Given the description of an element on the screen output the (x, y) to click on. 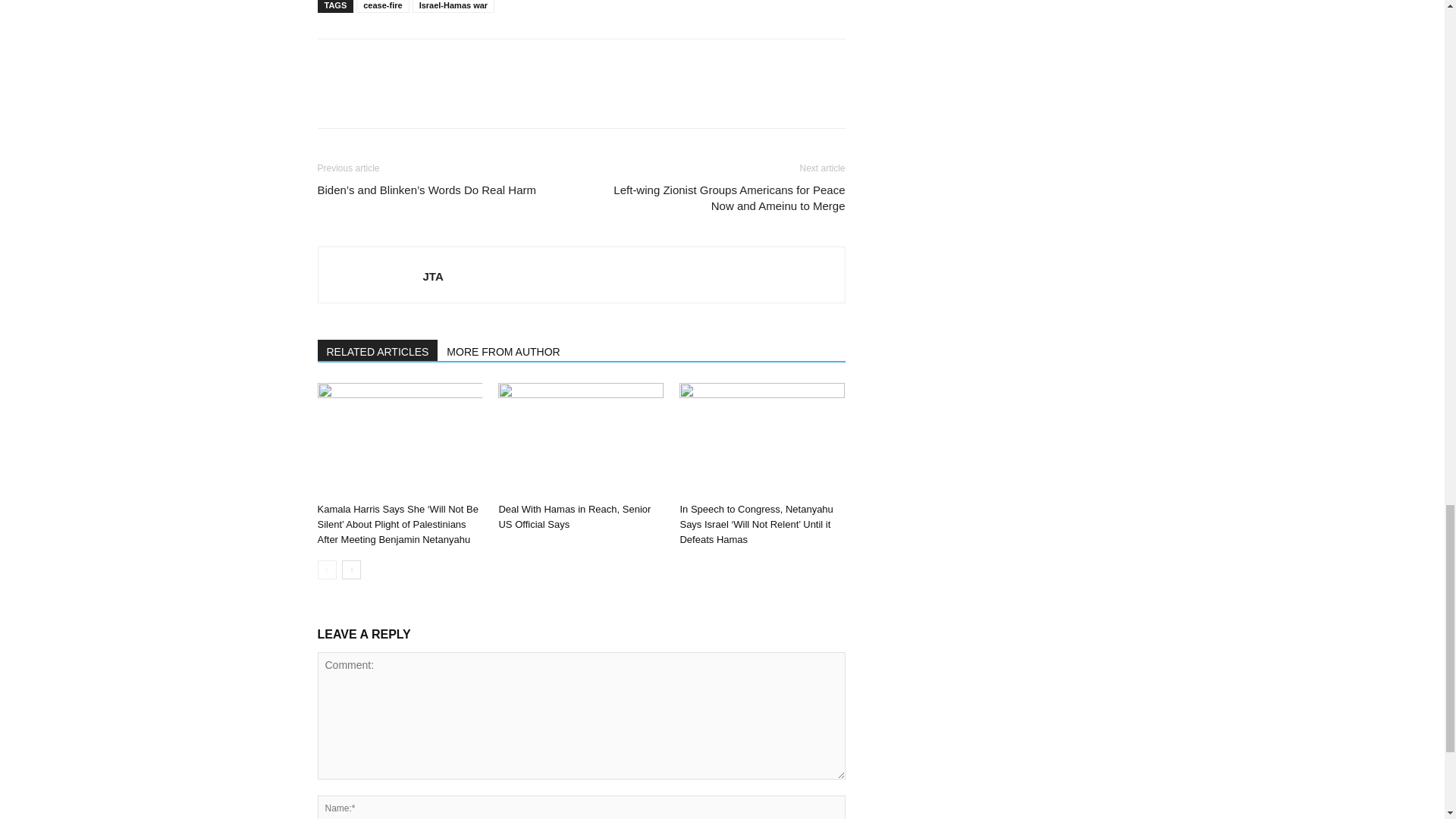
bottomFacebookLike (430, 63)
